Given the description of an element on the screen output the (x, y) to click on. 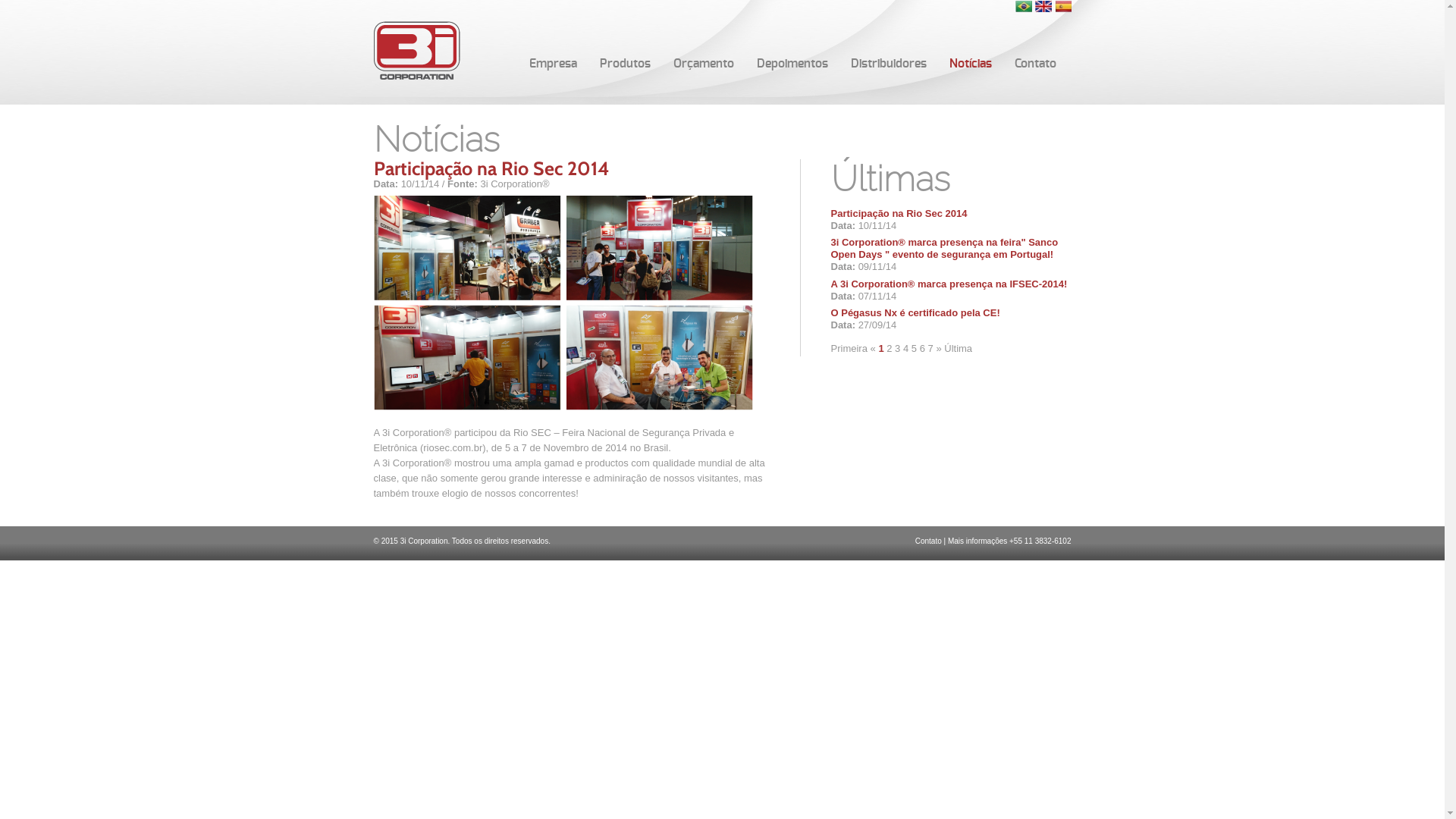
+55 11 3832-6102 Element type: text (1039, 540)
Contato Element type: text (928, 540)
2 Element type: text (888, 348)
5 Element type: text (913, 348)
Empresa Element type: text (552, 64)
7 Element type: text (930, 348)
6 Element type: text (922, 348)
Produtos Element type: text (624, 64)
3 Element type: text (897, 348)
4 Element type: text (905, 348)
Depoimentos Element type: text (791, 64)
Distribuidores Element type: text (887, 64)
Contato Element type: text (1034, 64)
